Given the description of an element on the screen output the (x, y) to click on. 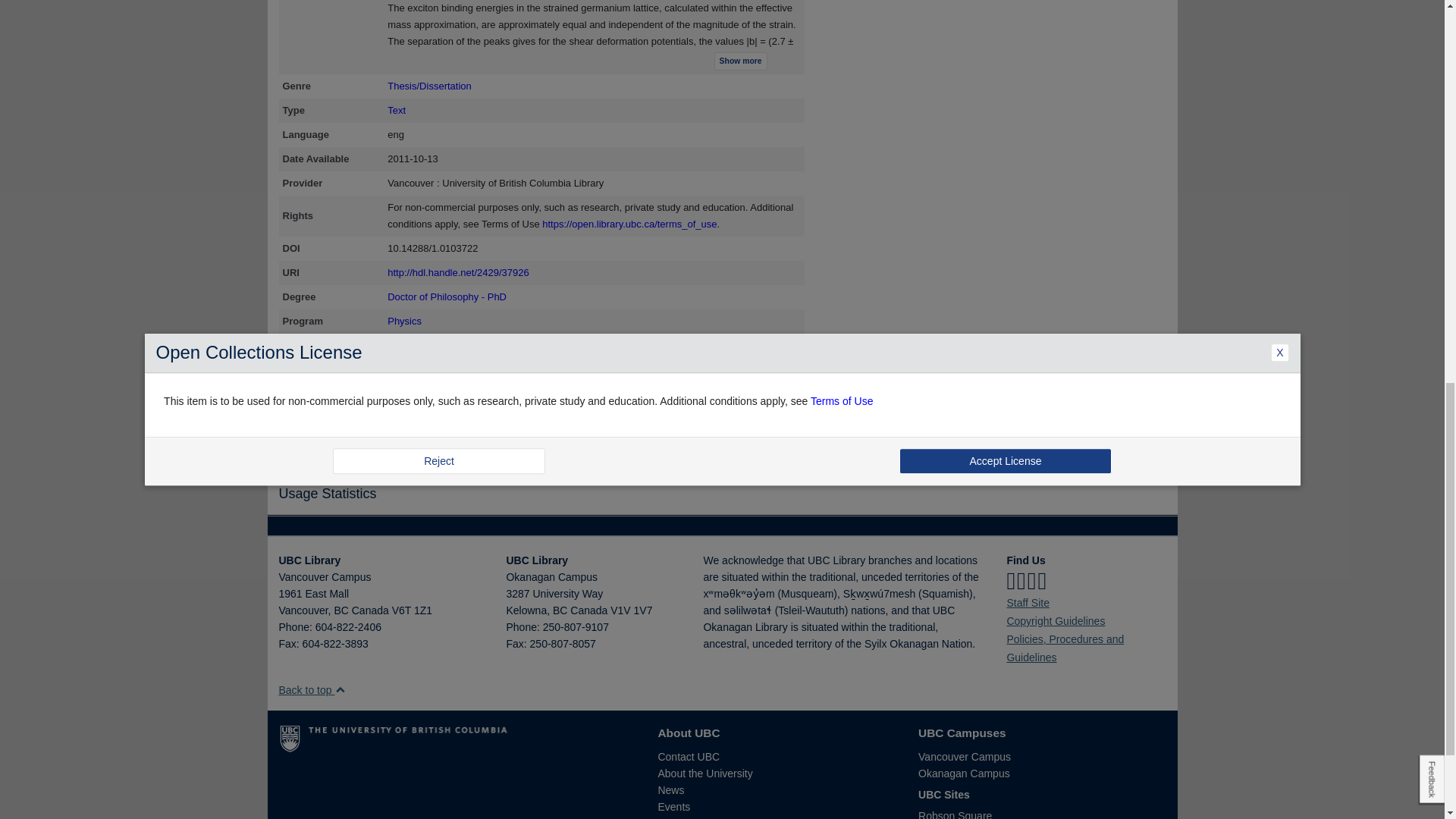
British Columbia (340, 610)
Instagram icon (1031, 580)
Youtube icon (1041, 580)
Facebook icon (1010, 580)
British Columbia (560, 610)
Twitter icon (1021, 580)
